Given the description of an element on the screen output the (x, y) to click on. 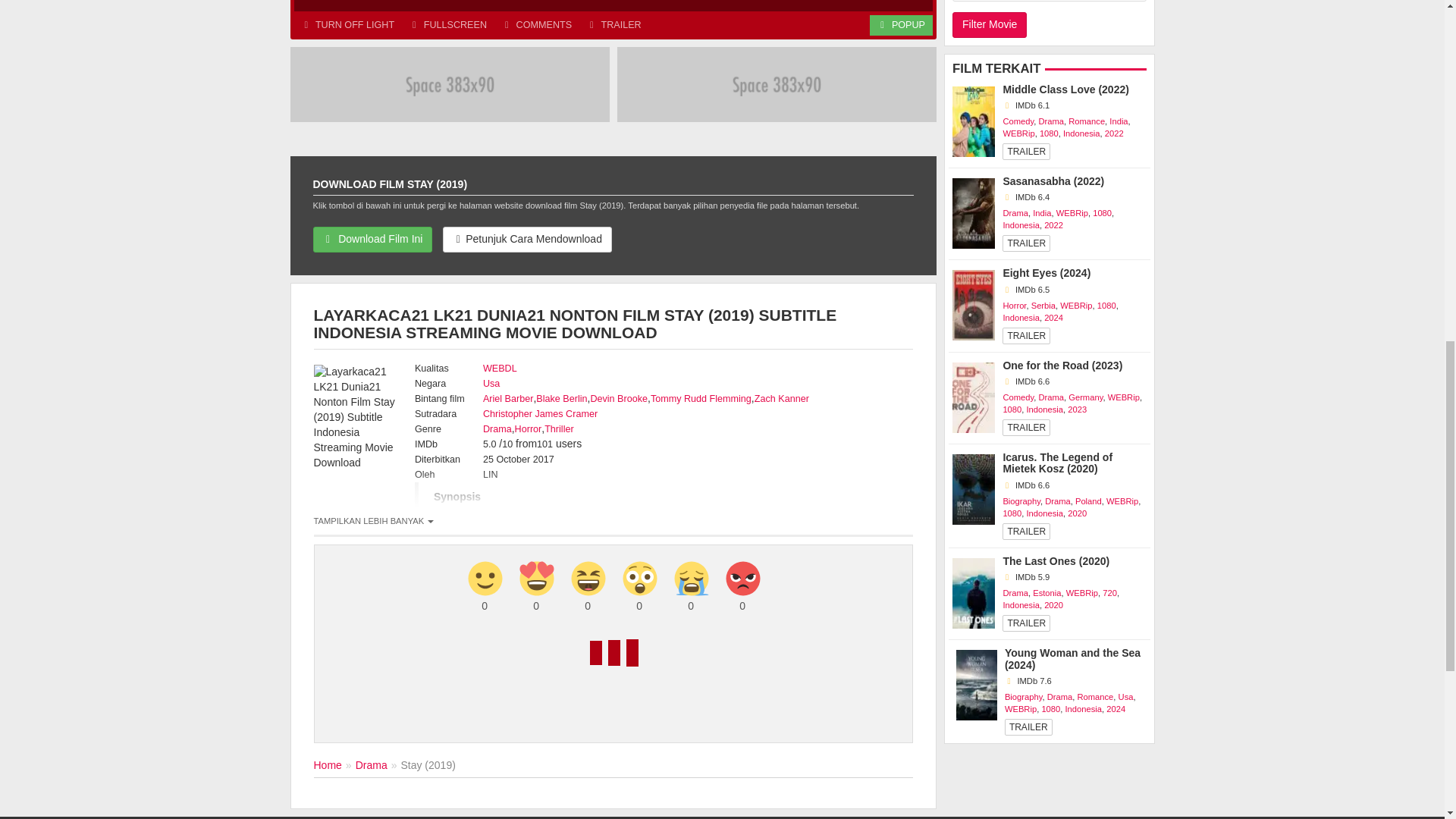
Filter Movie (989, 24)
